Given the description of an element on the screen output the (x, y) to click on. 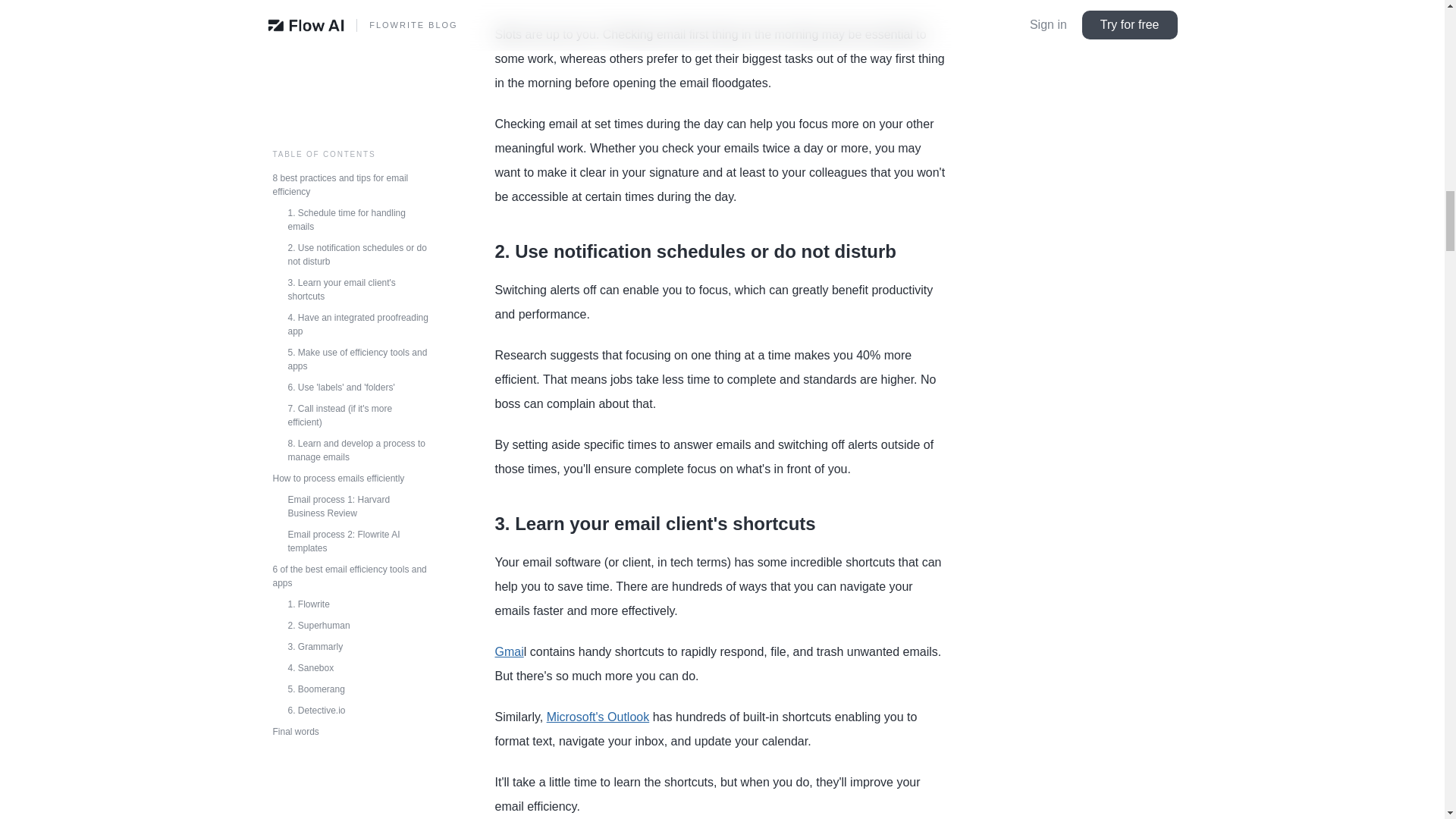
Gmai (508, 651)
Microsoft's Outlook (598, 716)
